Given the description of an element on the screen output the (x, y) to click on. 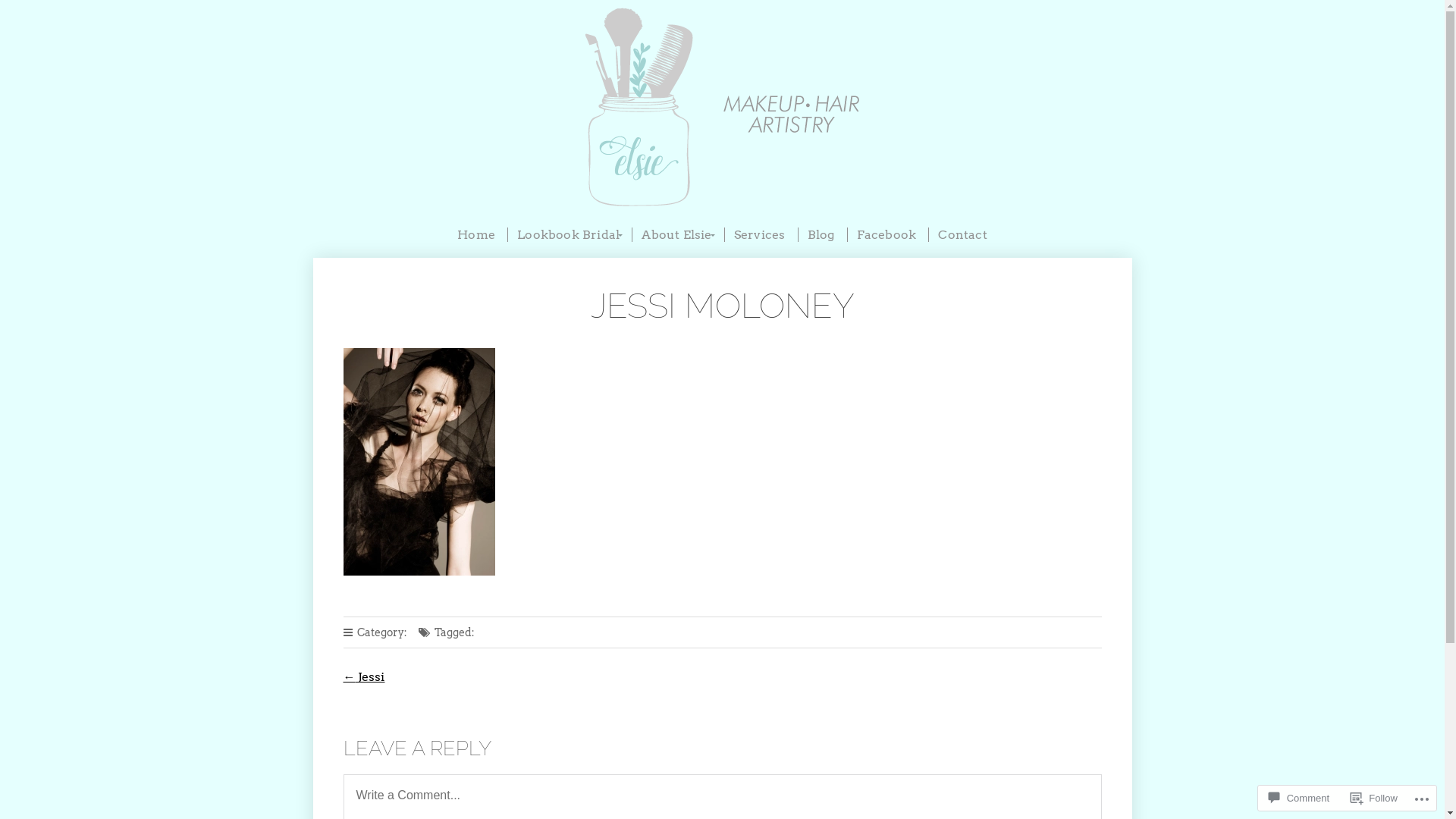
Facebook Element type: text (886, 234)
Home Element type: text (476, 234)
Blog Element type: text (820, 234)
Lookbook Bridal Element type: text (567, 234)
Services Element type: text (759, 234)
Comment Element type: text (1298, 797)
Follow Element type: text (1373, 797)
About Elsie Element type: text (675, 234)
Contact Element type: text (961, 234)
